Given the description of an element on the screen output the (x, y) to click on. 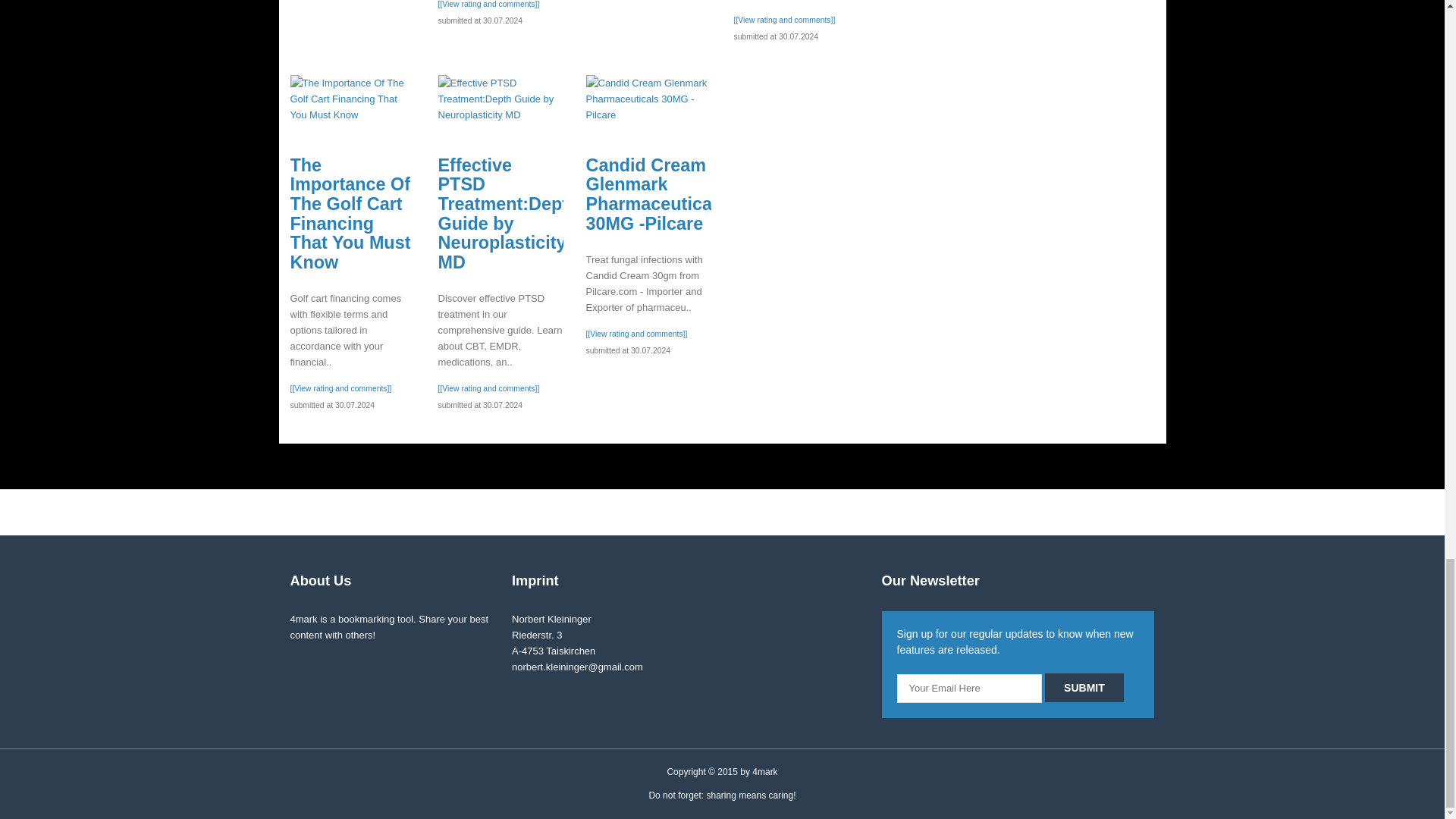
Effective PTSD Treatment:Depth Guide by Neuroplasticity MD (500, 98)
Candid Cream Glenmark Pharmaceuticals 30MG -Pilcare (647, 98)
Submit (1084, 687)
The Importance Of The Golf Cart Financing That You Must Know (351, 98)
Email (969, 688)
